Given the description of an element on the screen output the (x, y) to click on. 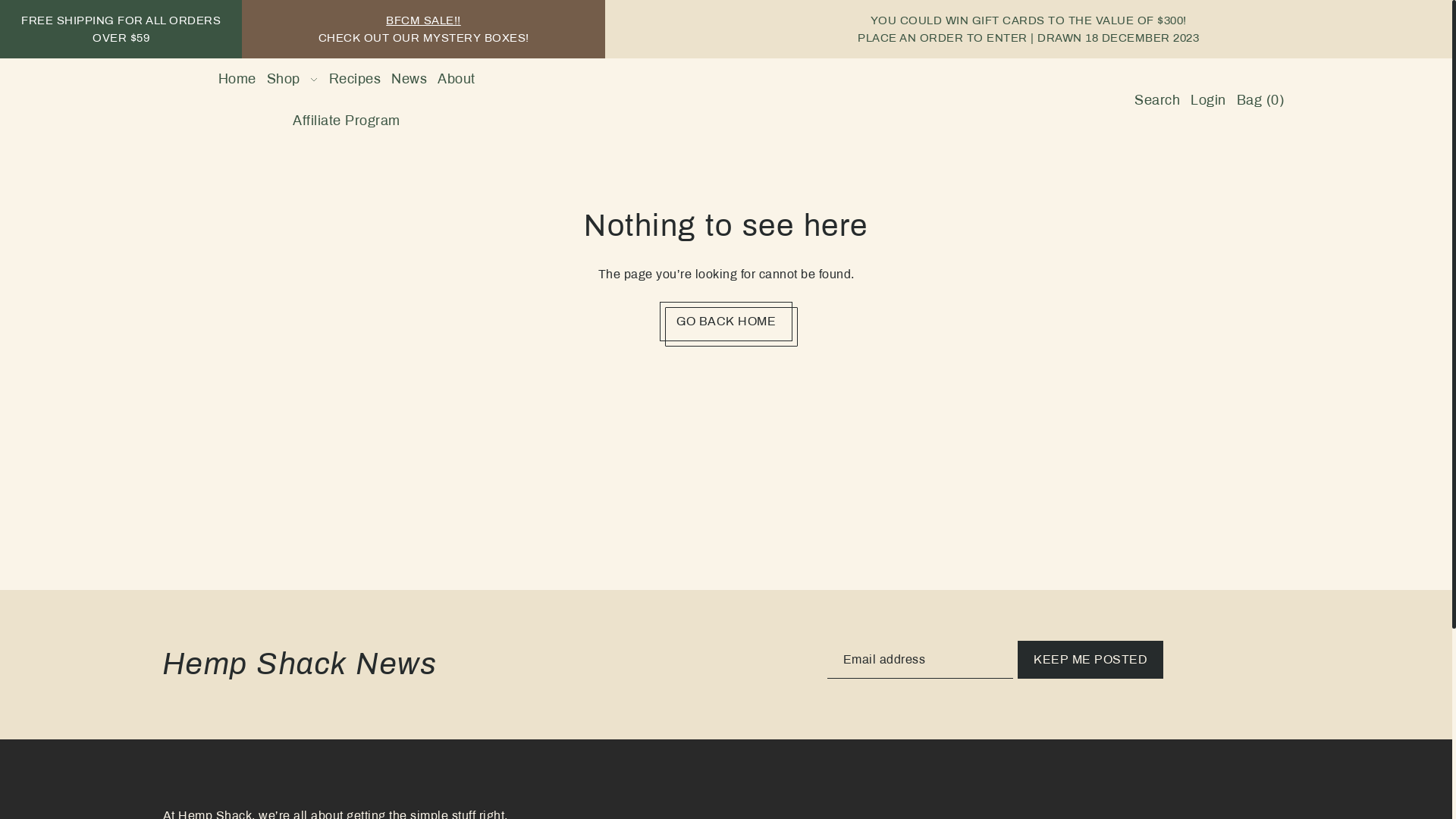
Affiliate Program Element type: text (346, 120)
GO BACK HOME Element type: text (726, 321)
Shop Element type: text (292, 79)
Login Element type: text (1208, 100)
Recipes Element type: text (354, 79)
KEEP ME POSTED Element type: text (1090, 659)
News Element type: text (409, 79)
BFCM SALE!! Element type: text (423, 20)
Home Element type: text (237, 79)
Bag (0) Element type: text (1260, 100)
About Element type: text (456, 79)
Search Element type: text (1157, 100)
